Given the description of an element on the screen output the (x, y) to click on. 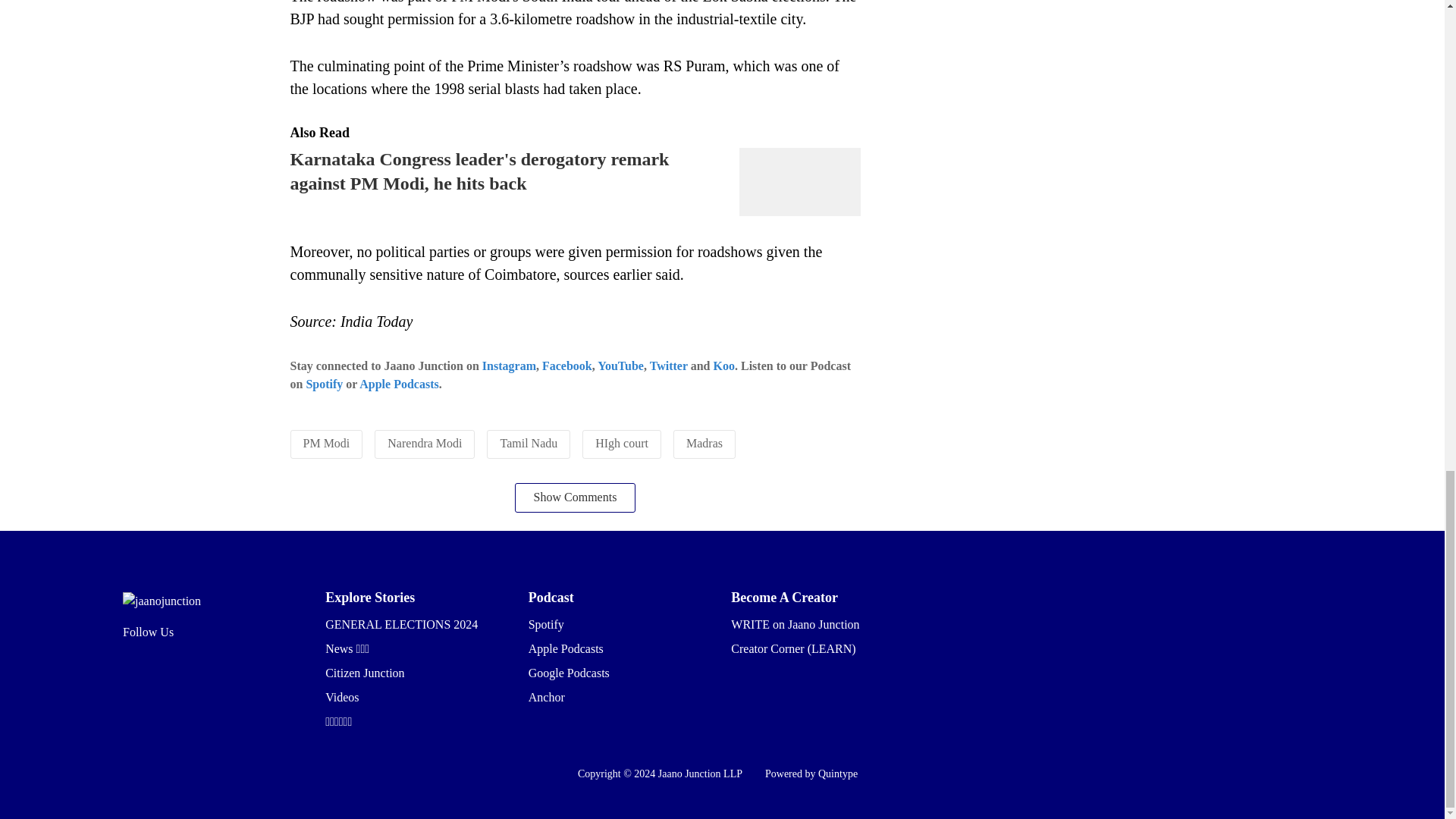
Apple Podcasts (398, 383)
Koo (724, 365)
Twitter (668, 365)
Tamil Nadu (528, 442)
Spotify (323, 383)
Narendra Modi (424, 442)
HIgh court (621, 442)
Instagram (508, 365)
PM Modi (326, 442)
